Given the description of an element on the screen output the (x, y) to click on. 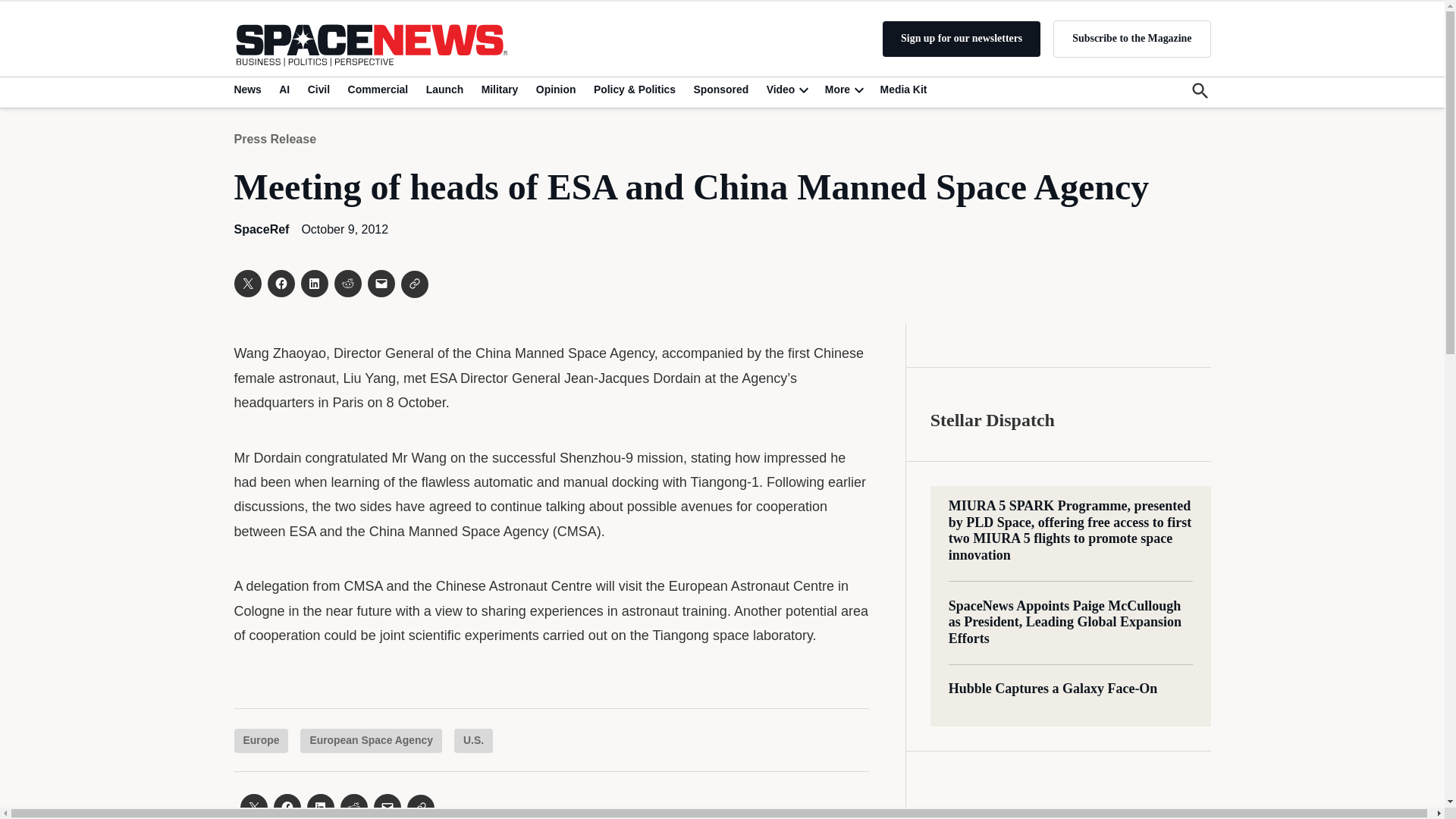
Sign up for our newsletters (961, 38)
Click to share on Facebook (280, 283)
Click to share on Facebook (286, 806)
Click to share on Clipboard (419, 806)
Subscribe to the Magazine (1130, 38)
Civil (318, 89)
AI (284, 89)
Click to share on LinkedIn (319, 806)
Click to share on Clipboard (414, 284)
Click to share on X (253, 806)
Click to share on Reddit (352, 806)
Click to share on Reddit (347, 283)
Click to email a link to a friend (380, 283)
Click to share on LinkedIn (313, 283)
